Given the description of an element on the screen output the (x, y) to click on. 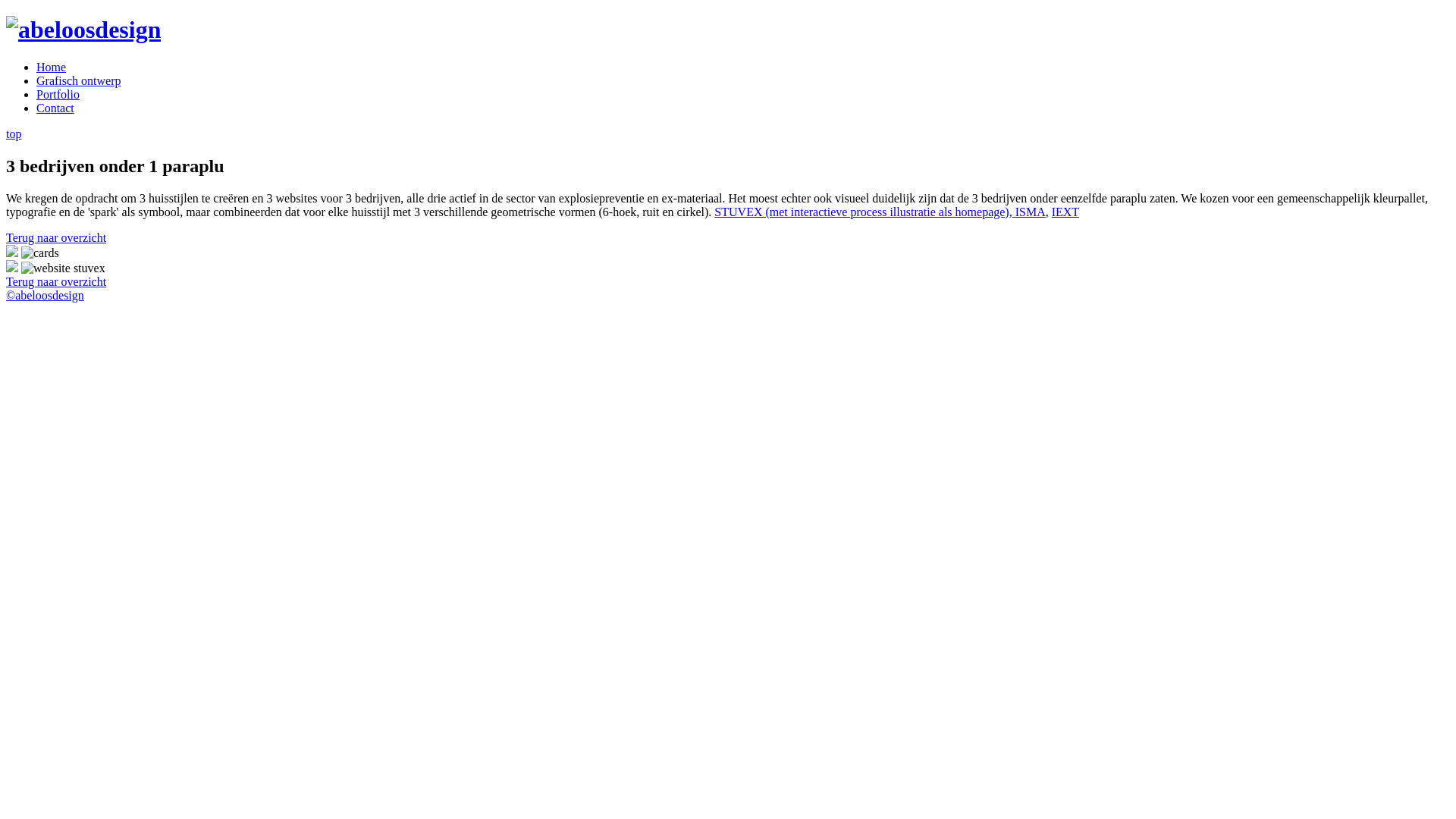
home Element type: hover (83, 29)
top Element type: text (13, 133)
Terug naar overzicht Element type: text (56, 281)
Portfolio Element type: text (57, 93)
IEXT Element type: text (1065, 211)
ISMA Element type: text (1030, 211)
Grafisch ontwerp Element type: text (78, 80)
Terug naar overzicht Element type: text (56, 237)
STUVEX (met interactieve process illustratie als homepage), Element type: text (864, 211)
Contact Element type: text (55, 107)
Home Element type: text (50, 66)
